Given the description of an element on the screen output the (x, y) to click on. 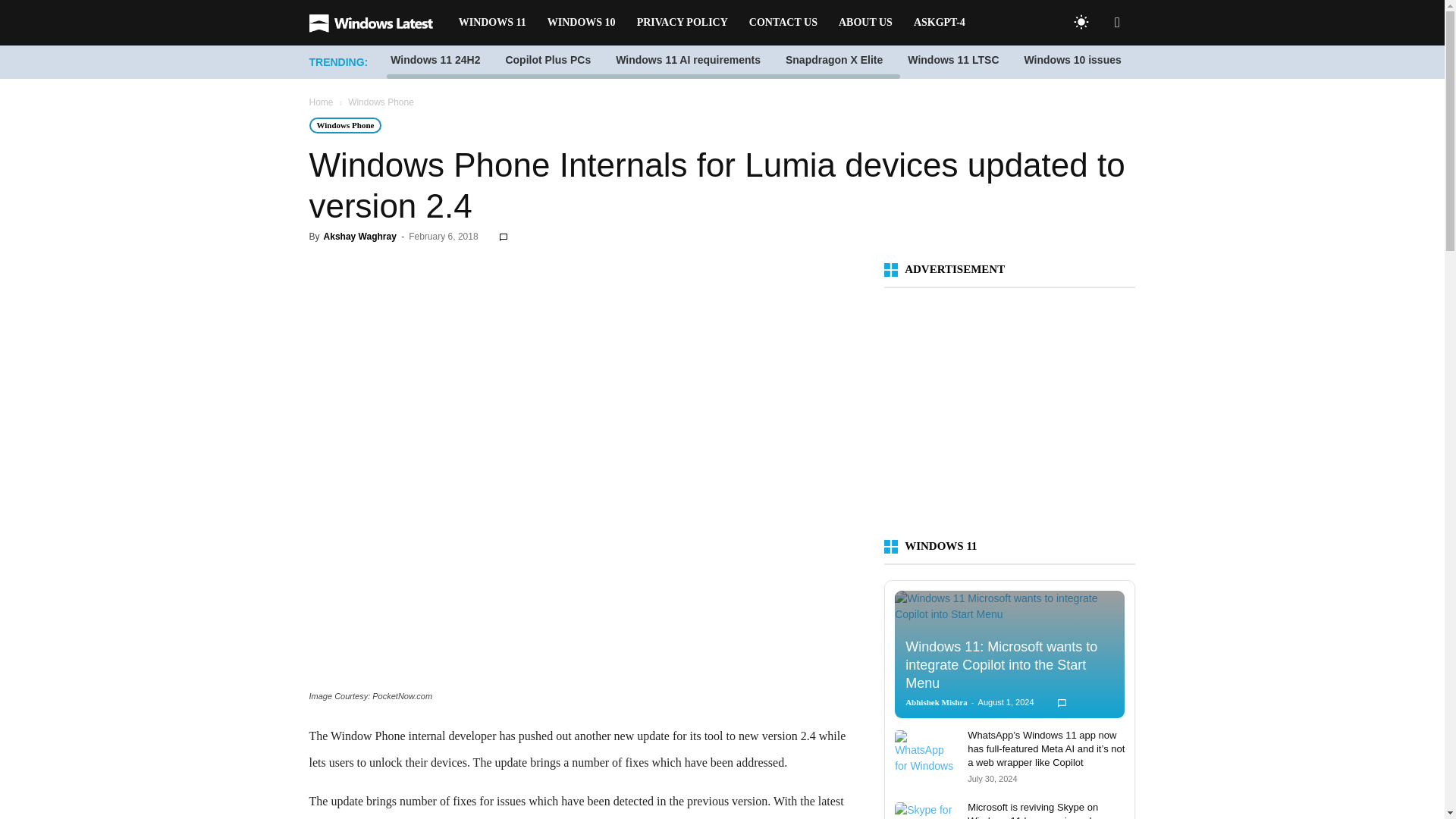
Windows Latest (378, 22)
WINDOWS 10 (581, 22)
WINDOWS 11 (492, 22)
